Given the description of an element on the screen output the (x, y) to click on. 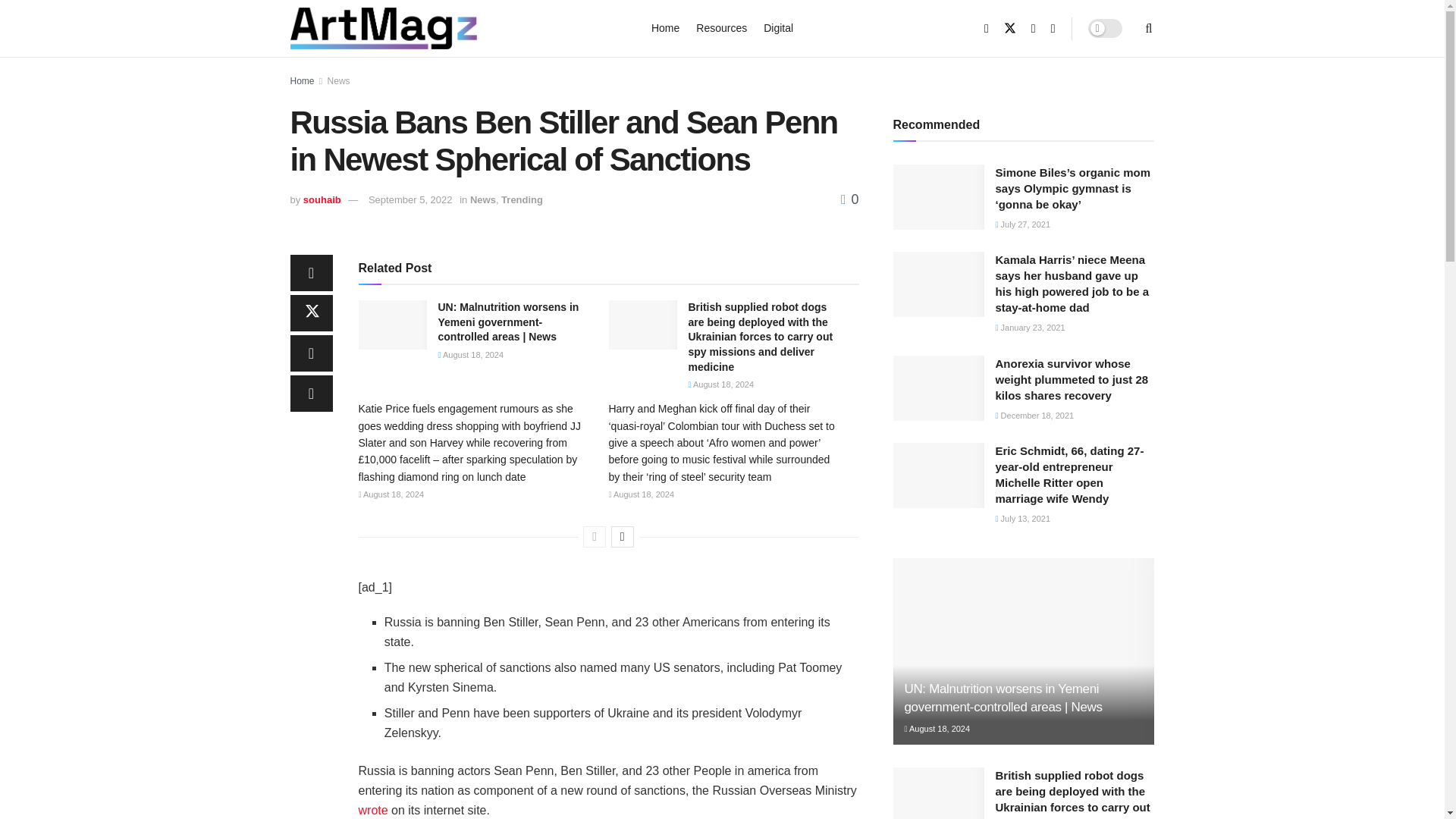
Digital (777, 27)
September 5, 2022 (410, 199)
Next (622, 536)
Resources (720, 27)
Trending (521, 199)
Link (372, 809)
Previous (594, 536)
August 18, 2024 (721, 384)
August 18, 2024 (470, 354)
